Given the description of an element on the screen output the (x, y) to click on. 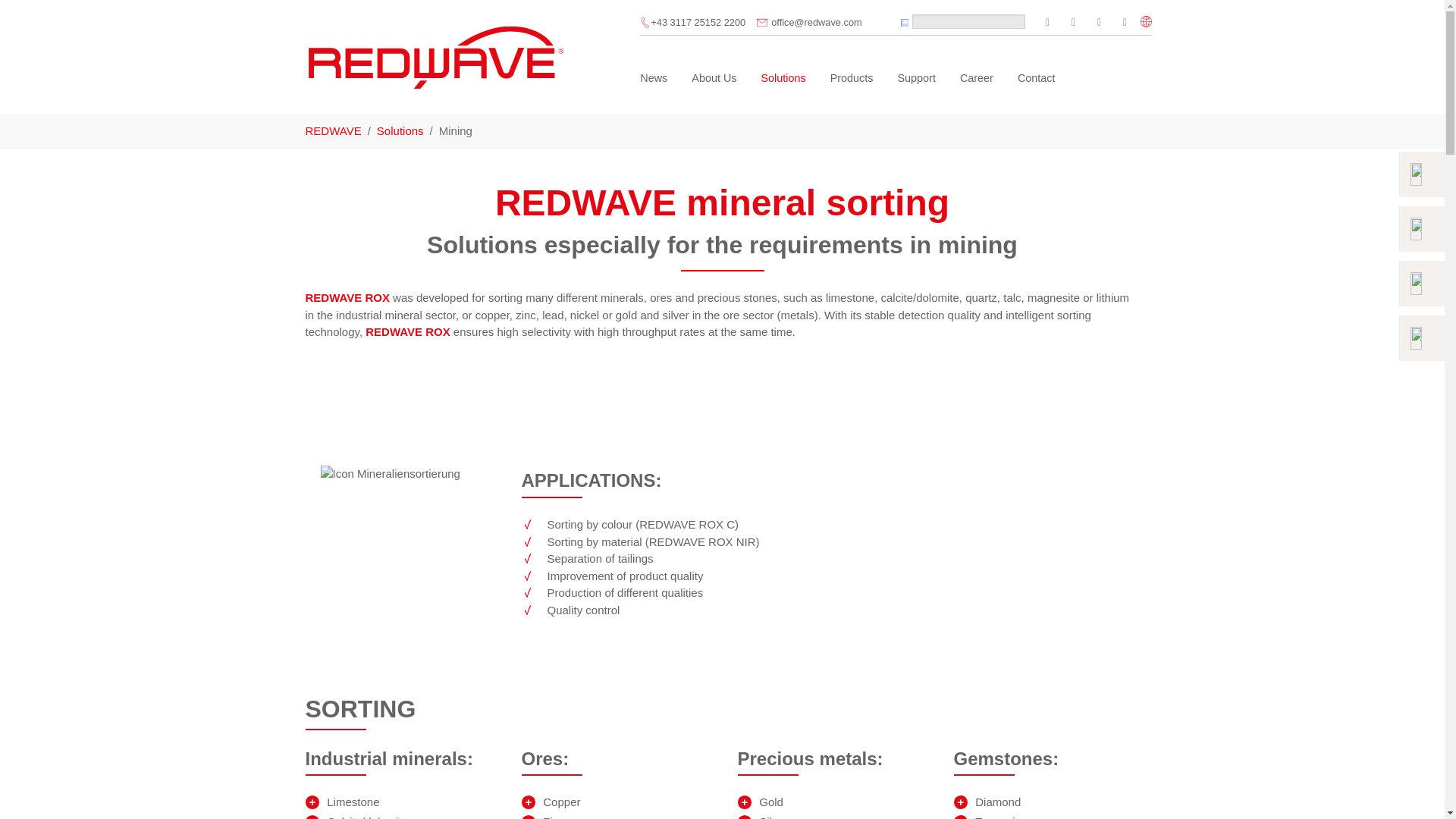
About Us (713, 78)
Instagram (1073, 22)
News (653, 78)
News (653, 78)
Twitter (1048, 22)
LinkedIn (1099, 22)
Redwave (435, 56)
YouTube (1125, 22)
